Given the description of an element on the screen output the (x, y) to click on. 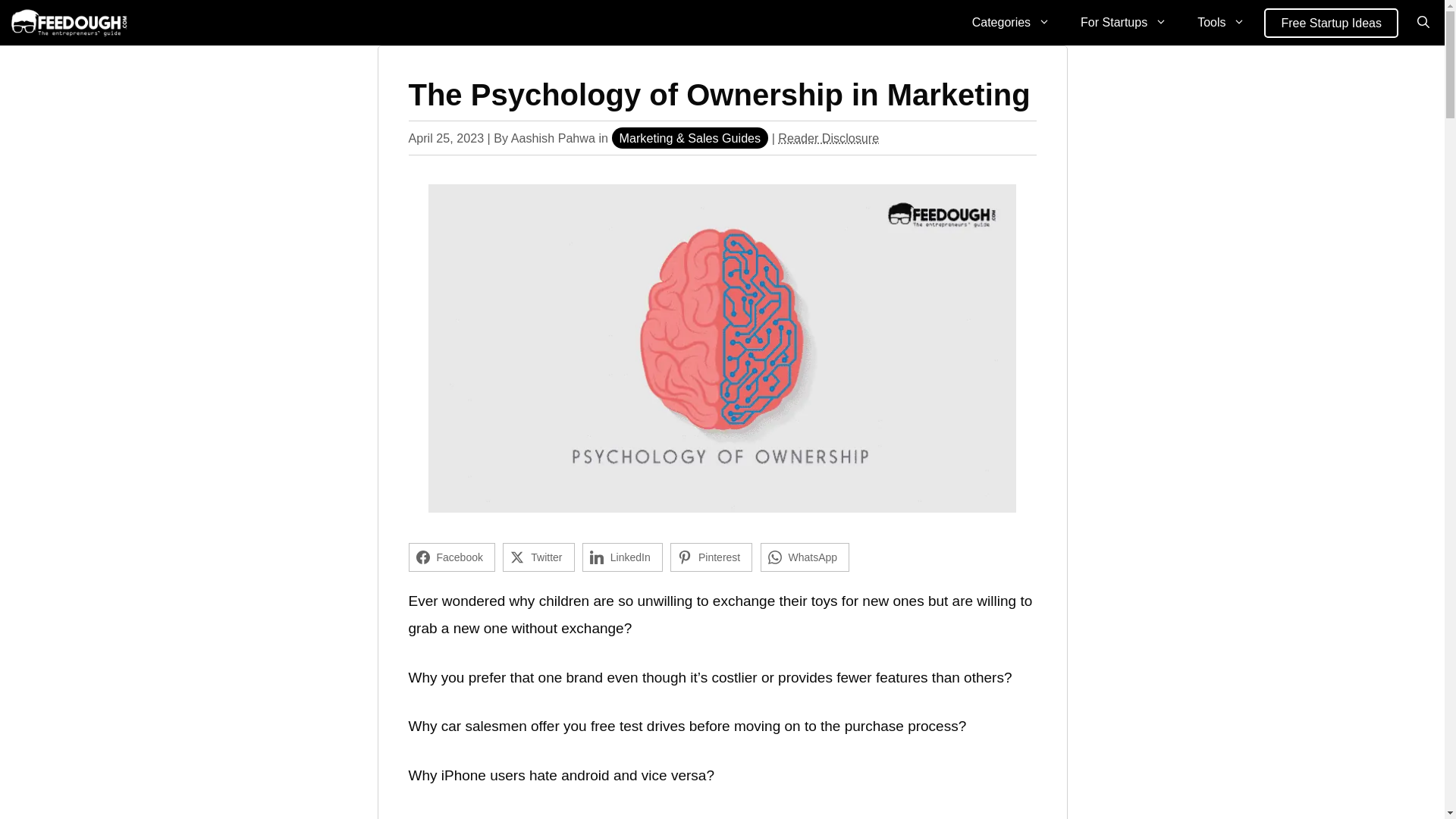
Share on Facebook (451, 556)
Share on Twitter (537, 556)
Share on LinkedIn (622, 556)
Feedough (69, 22)
Share on WhatsApp (805, 556)
Share on Pinterest (710, 556)
